Given the description of an element on the screen output the (x, y) to click on. 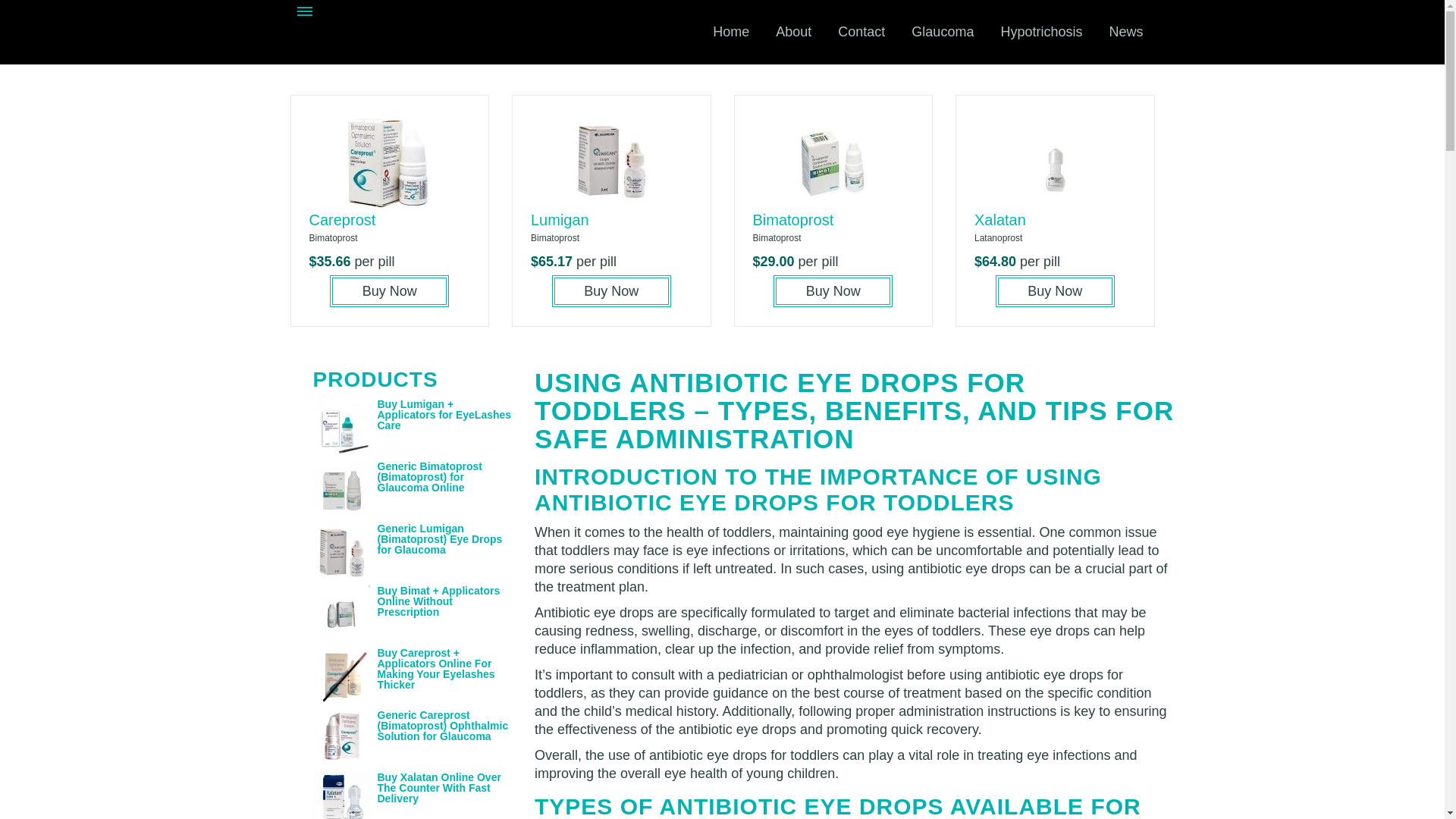
Home (730, 32)
About (793, 32)
Lumigan (560, 219)
Hypotrichosis (1040, 32)
Buy Xalatan Online Over The Counter With Fast Delivery (438, 787)
Buy Now (1055, 290)
Buy Now (611, 290)
Bimatoprost (792, 219)
Buy Now (832, 290)
Careprost (341, 219)
Buy Now (389, 290)
Contact (861, 32)
News (1125, 32)
Glaucoma (942, 32)
Buy Xalatan Online Over The Counter With Fast Delivery (438, 787)
